Given the description of an element on the screen output the (x, y) to click on. 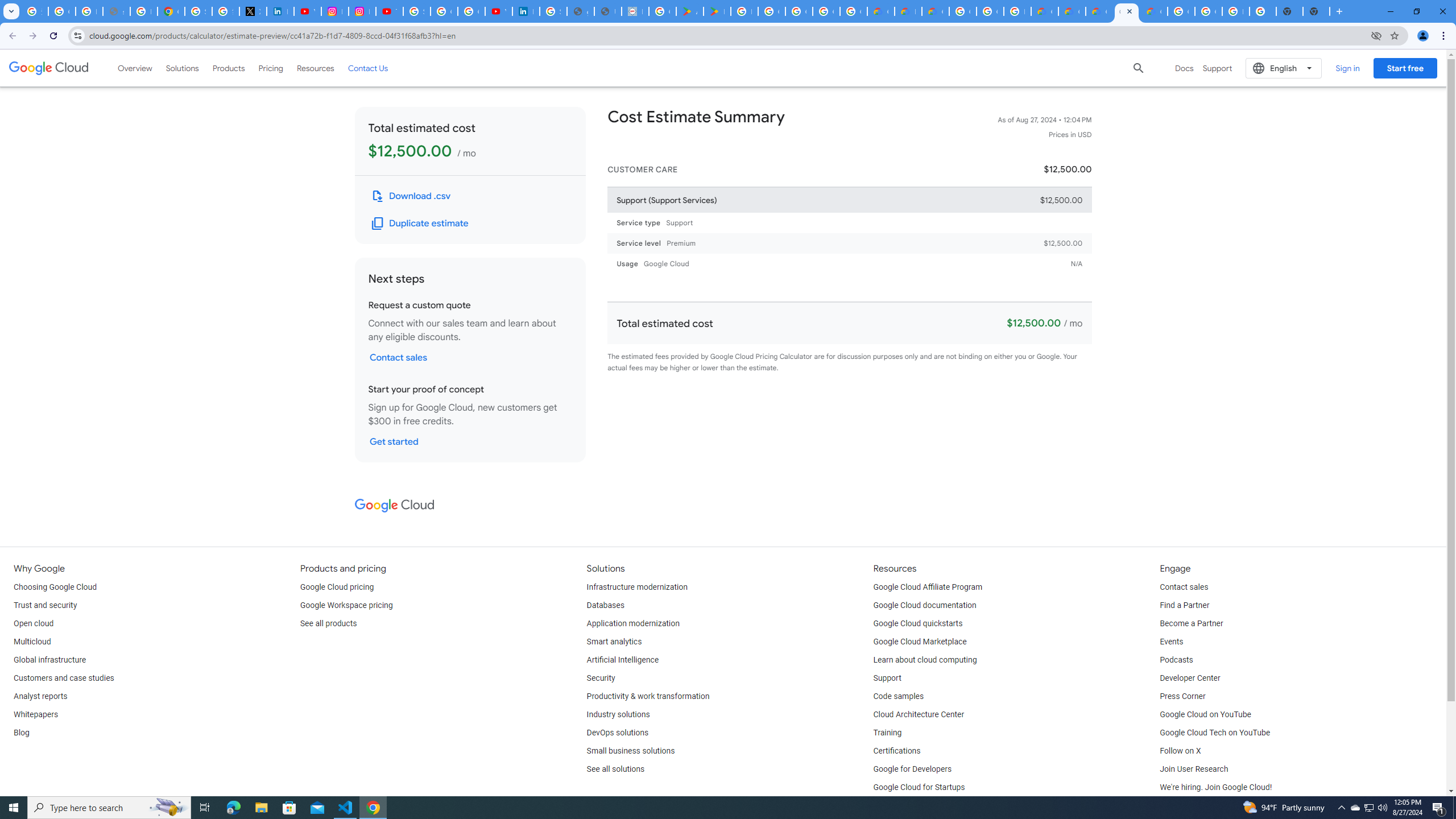
See all solutions (615, 769)
Application modernization (632, 624)
Follow on X (1179, 751)
Training (887, 732)
Whitepapers (35, 714)
Productivity & work transformation (648, 696)
Google Cloud (48, 67)
Certifications (896, 751)
